Given the description of an element on the screen output the (x, y) to click on. 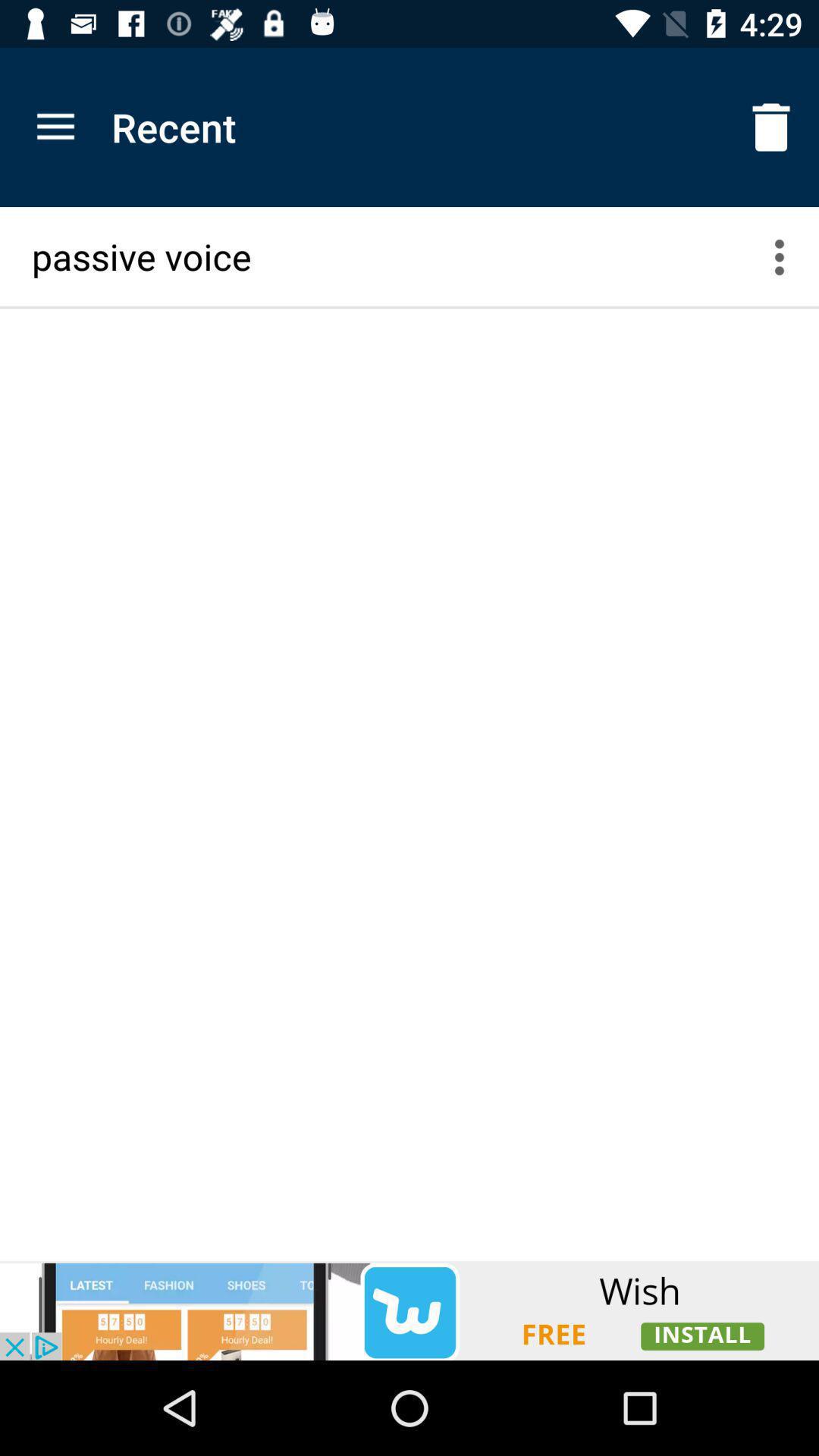
advertising link (409, 1310)
